Given the description of an element on the screen output the (x, y) to click on. 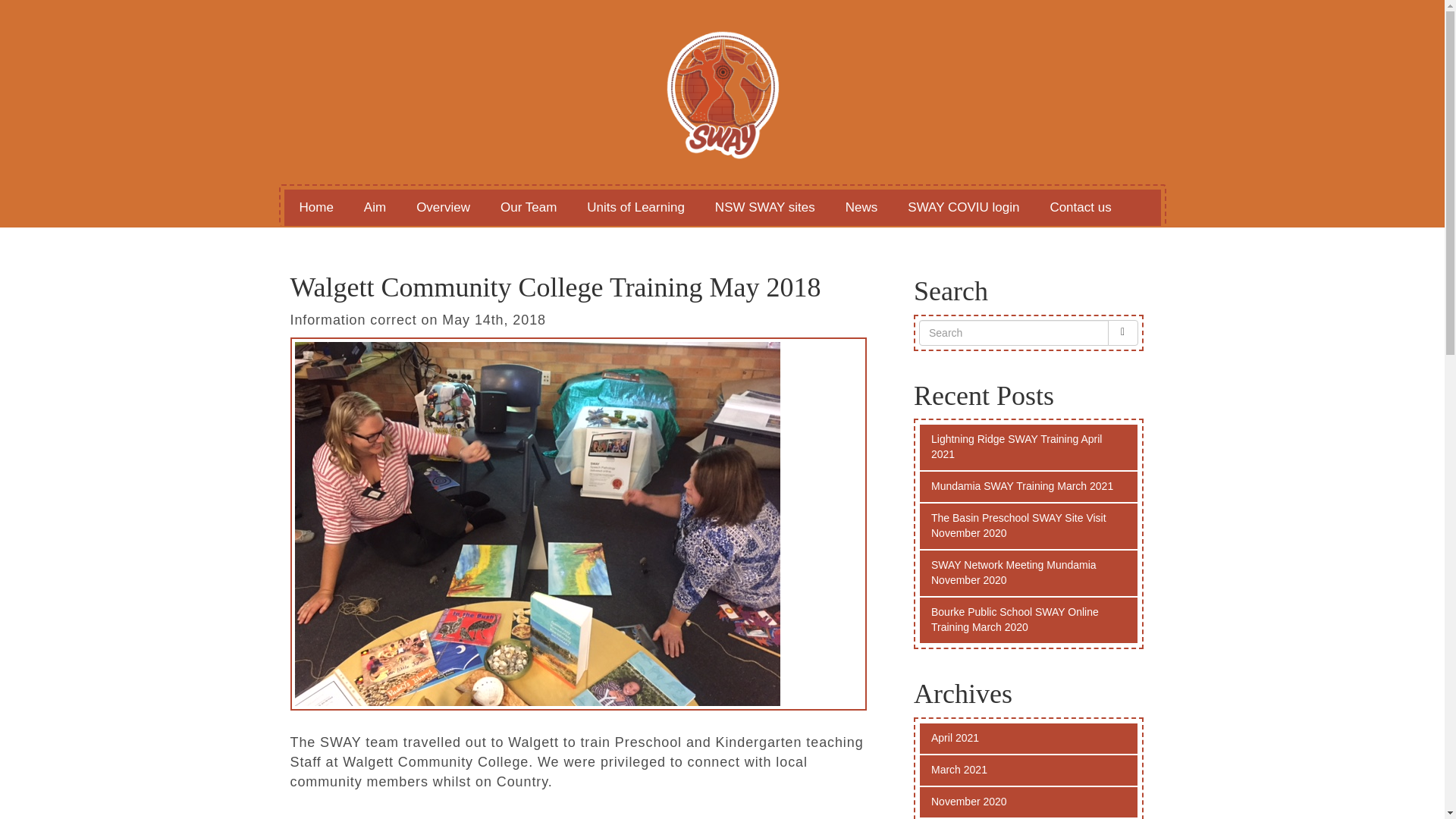
Contact us (1079, 207)
Our Team (528, 207)
Look SWAY Network Meeting Mundamia November 2020 (1028, 573)
Look The Basin Preschool SWAY Site Visit November 2020 (1028, 525)
SWAY COVIU login (962, 207)
November 2020 (1028, 802)
The Basin Preschool SWAY Site Visit November 2020 (1028, 525)
Look Lightning Ridge SWAY Training April 2021 (1028, 447)
Units of Learning (636, 207)
Look Mundamia SWAY Training March 2021 (1028, 486)
